Given the description of an element on the screen output the (x, y) to click on. 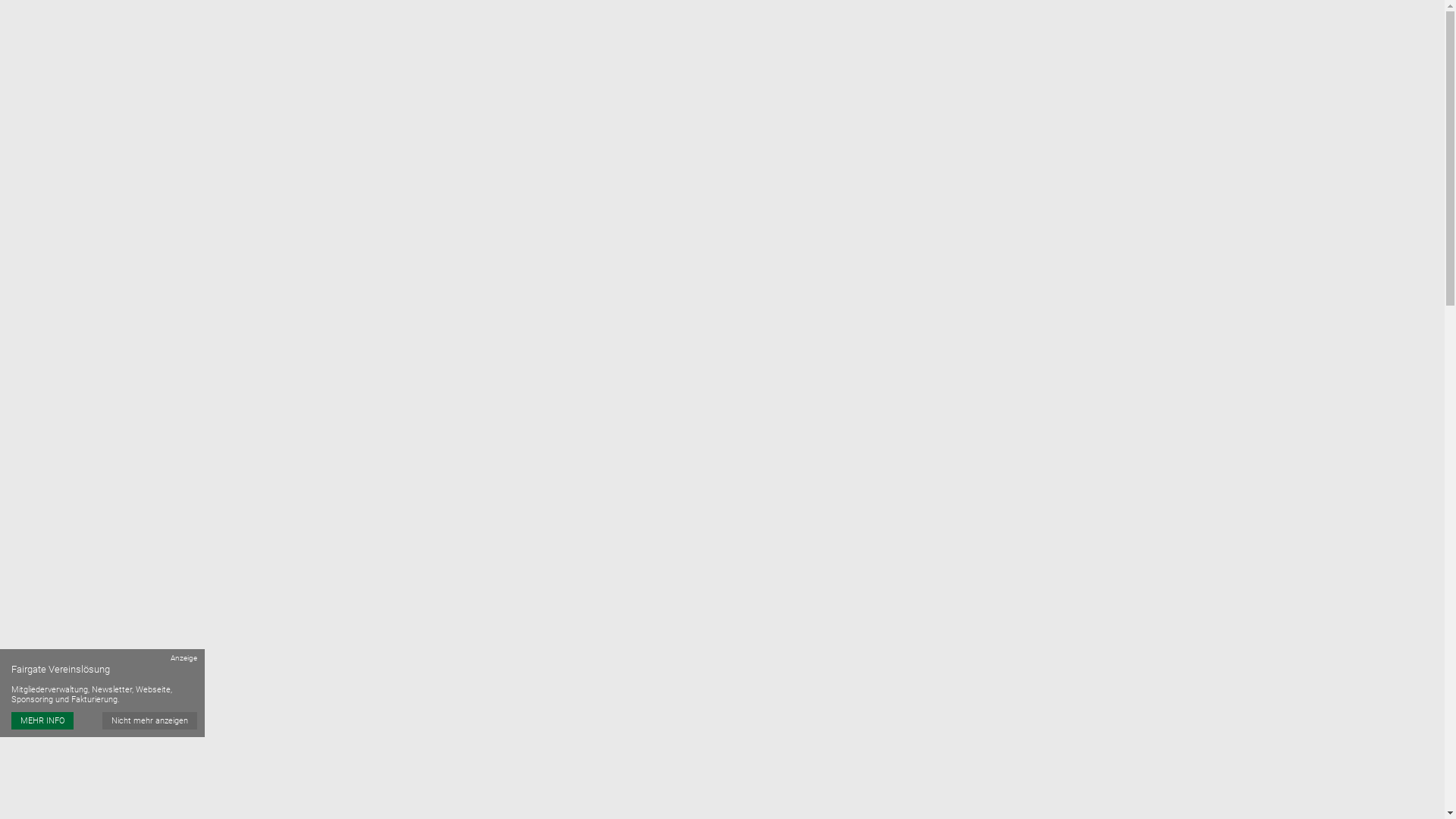
Nicht mehr anzeigen Element type: text (149, 720)
MEHR INFO Element type: text (42, 720)
